Given the description of an element on the screen output the (x, y) to click on. 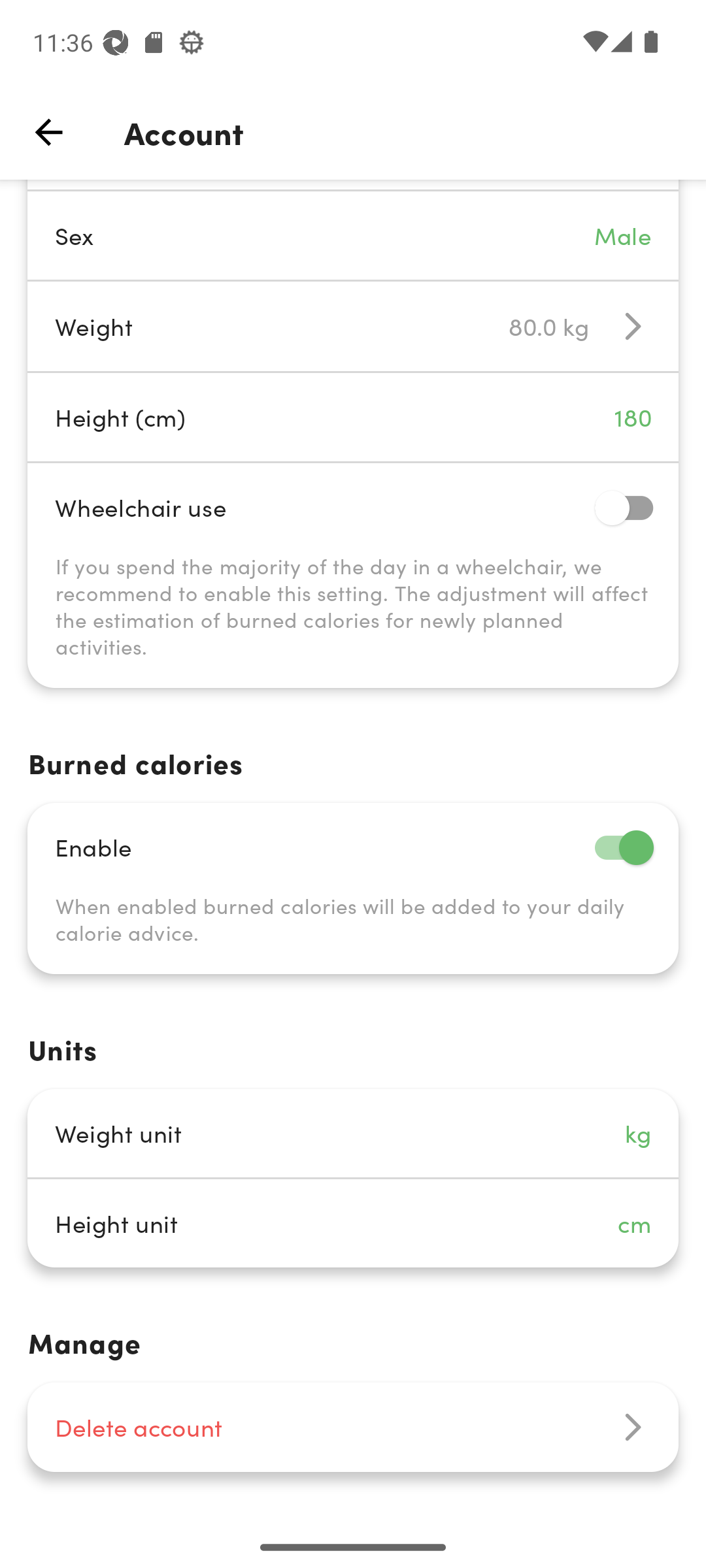
top_left_action (48, 132)
Sex Male (352, 235)
Weight 80.0 kg (352, 326)
Height (cm) 180 (352, 416)
Wheelchair use (352, 506)
Enable (352, 846)
Weight unit kg (352, 1133)
Height unit cm (352, 1222)
Delete account (352, 1427)
